Given the description of an element on the screen output the (x, y) to click on. 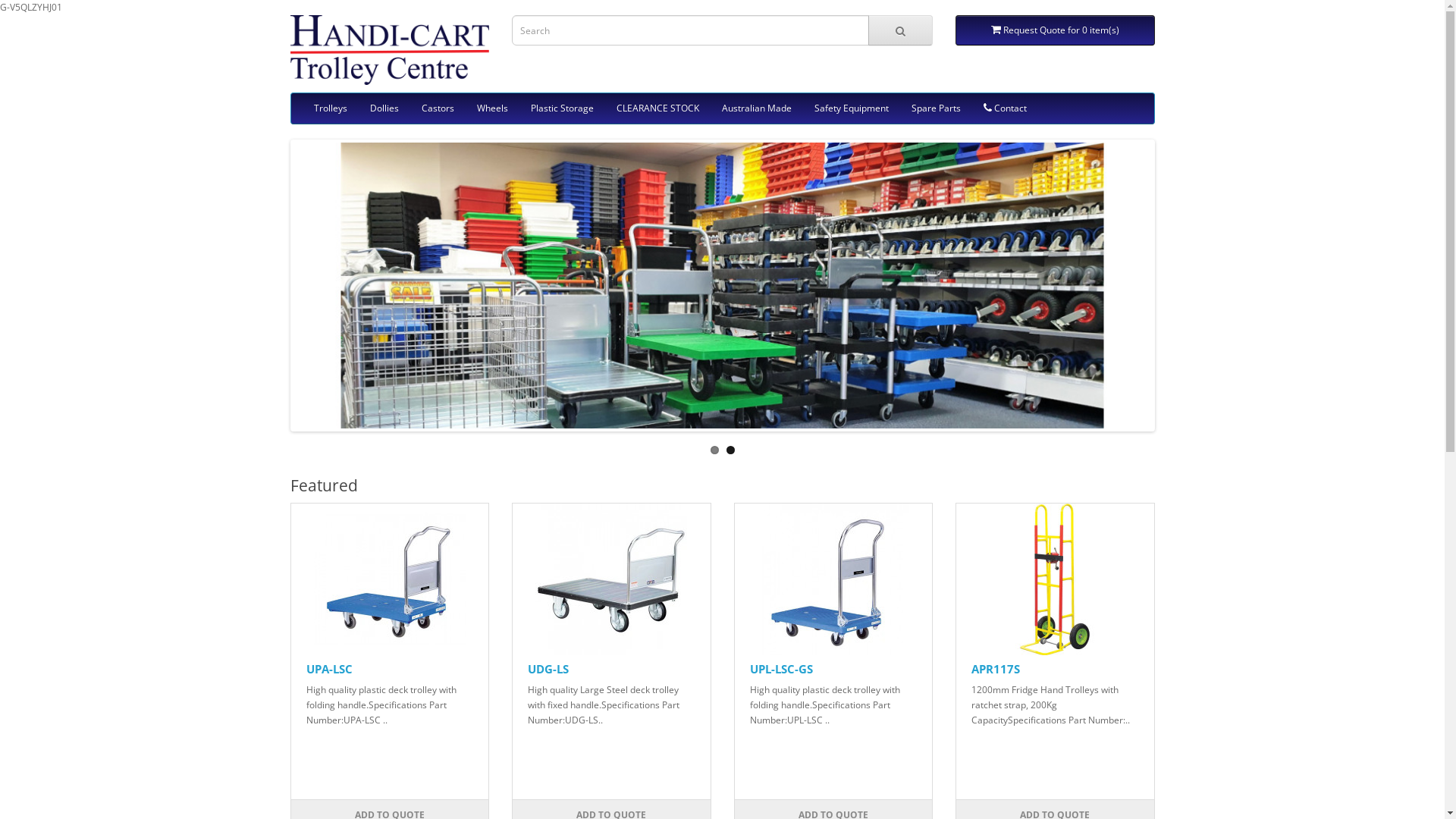
Plastic Storage Element type: text (561, 108)
UPA-LSC Element type: text (329, 668)
Castors Element type: text (436, 108)
Request Quote for 0 item(s) Element type: text (1054, 30)
Australian Made Element type: text (755, 108)
Trolleys Element type: text (329, 108)
 Contact Element type: text (1005, 108)
Spare Parts Element type: text (935, 108)
Handi-Cart Trolley Centre Element type: hover (389, 49)
UDG-LS  Element type: hover (611, 579)
Dollies Element type: text (383, 108)
Safety Equipment Element type: text (850, 108)
APR117S Element type: text (995, 668)
APR117S Element type: hover (1054, 579)
UPL-LSC-GS Element type: text (780, 668)
UPL-LSC-GS  Element type: hover (833, 579)
Wheels Element type: text (492, 108)
UDG-LS Element type: text (547, 668)
UPA-LSC  Element type: hover (389, 579)
CLEARANCE STOCK Element type: text (657, 108)
